Given the description of an element on the screen output the (x, y) to click on. 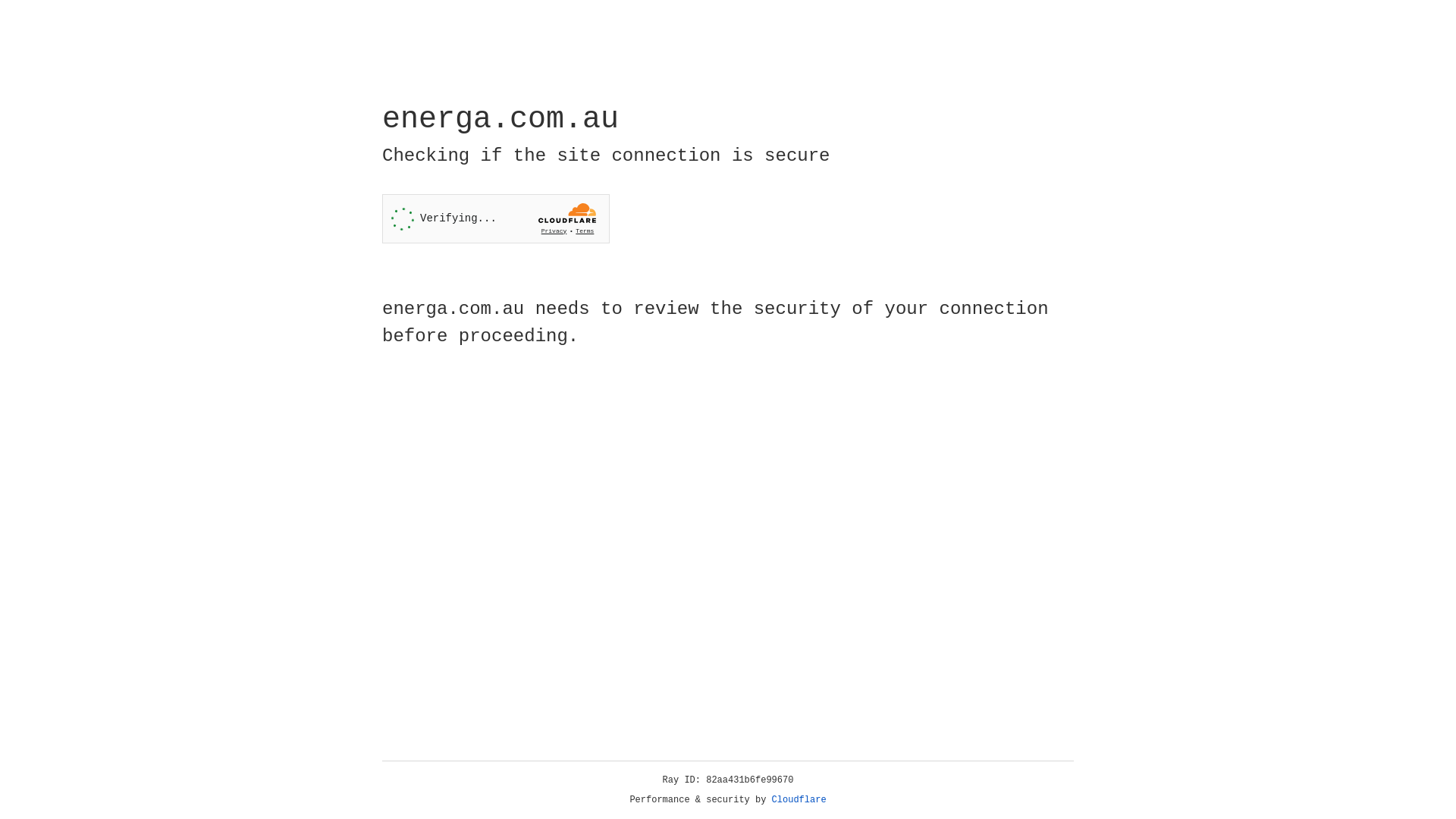
Widget containing a Cloudflare security challenge Element type: hover (495, 218)
Cloudflare Element type: text (798, 799)
